Given the description of an element on the screen output the (x, y) to click on. 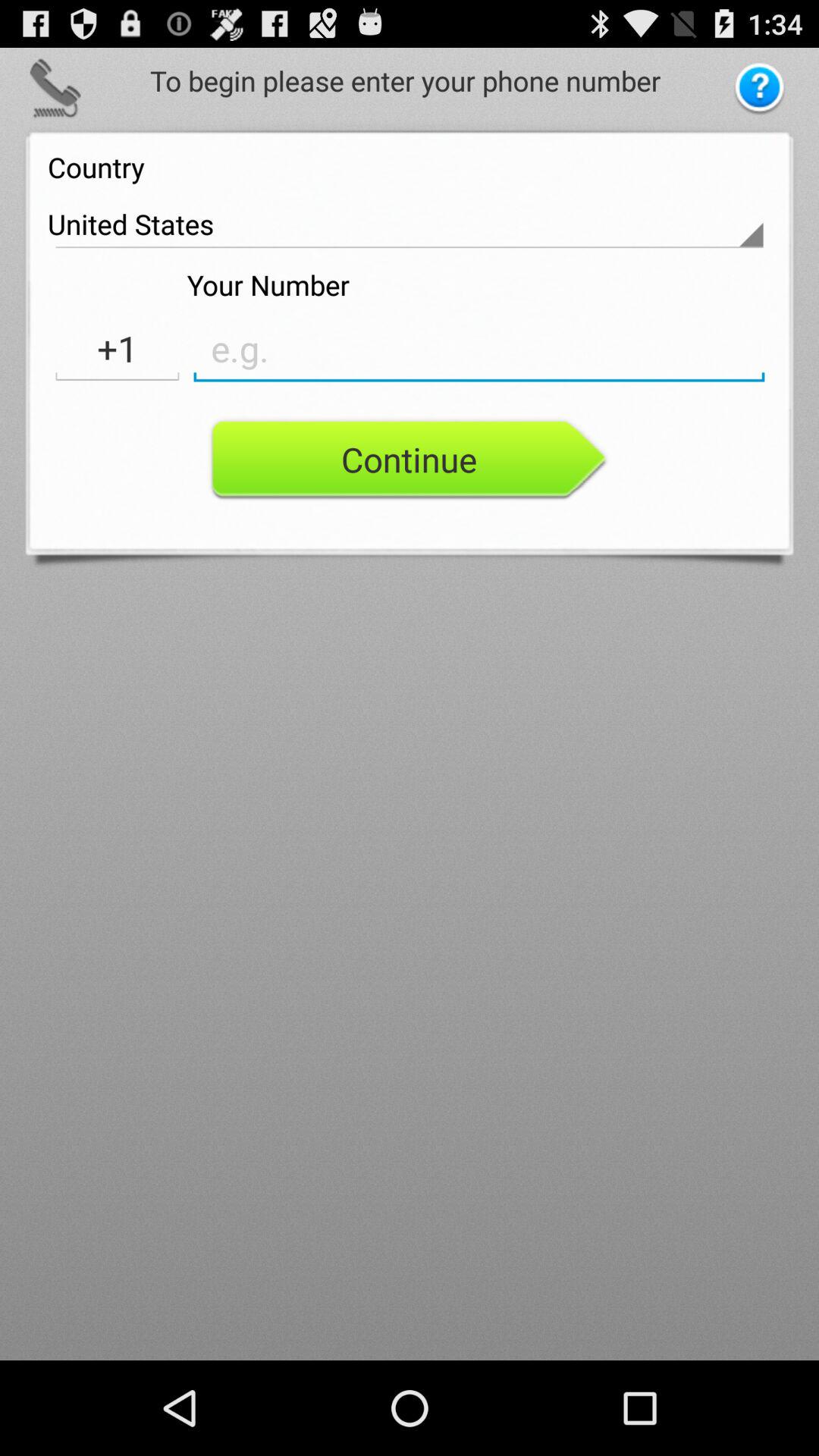
help (759, 88)
